Given the description of an element on the screen output the (x, y) to click on. 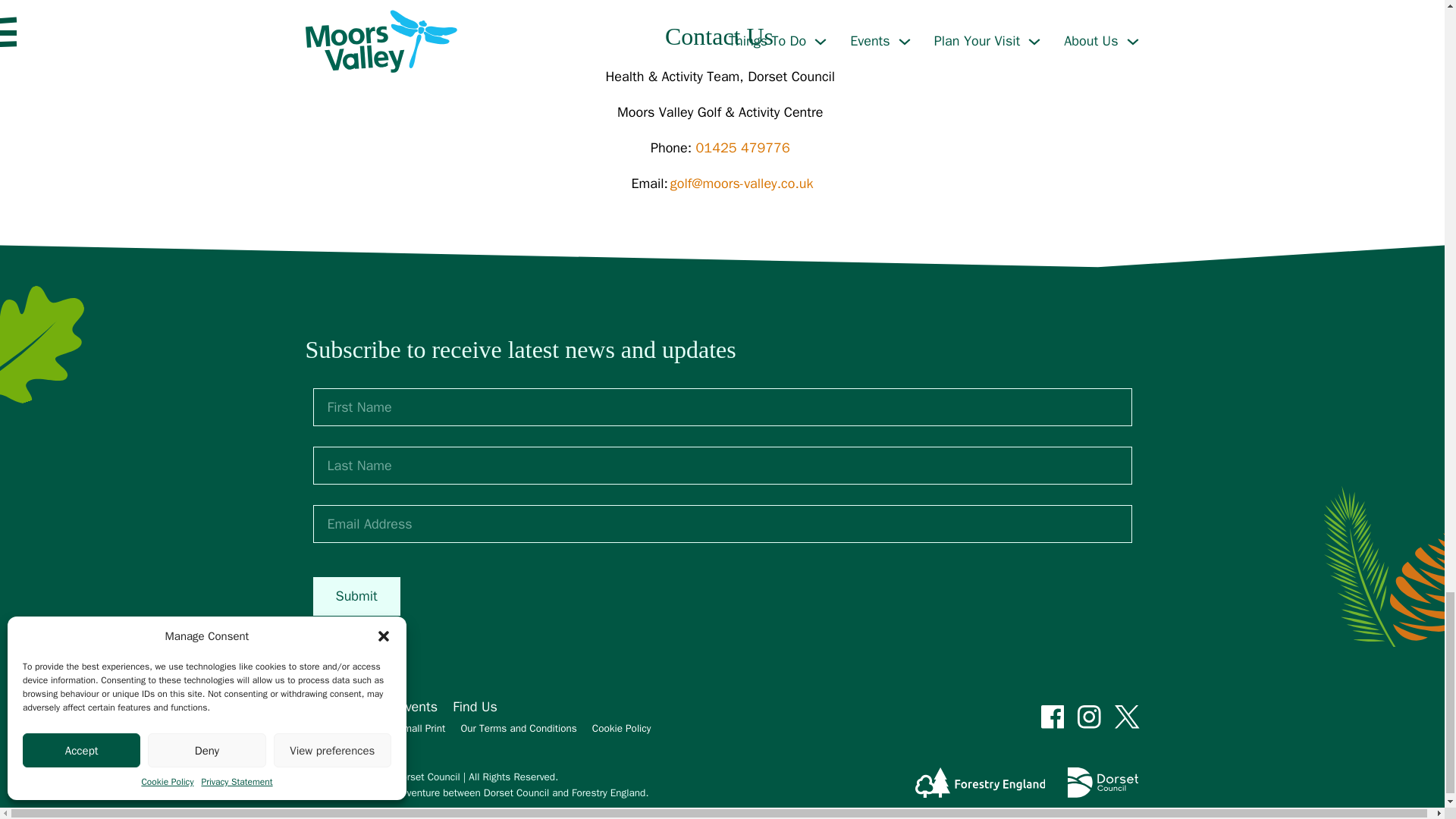
Dorset Council (1102, 785)
Forestry England (980, 785)
